Given the description of an element on the screen output the (x, y) to click on. 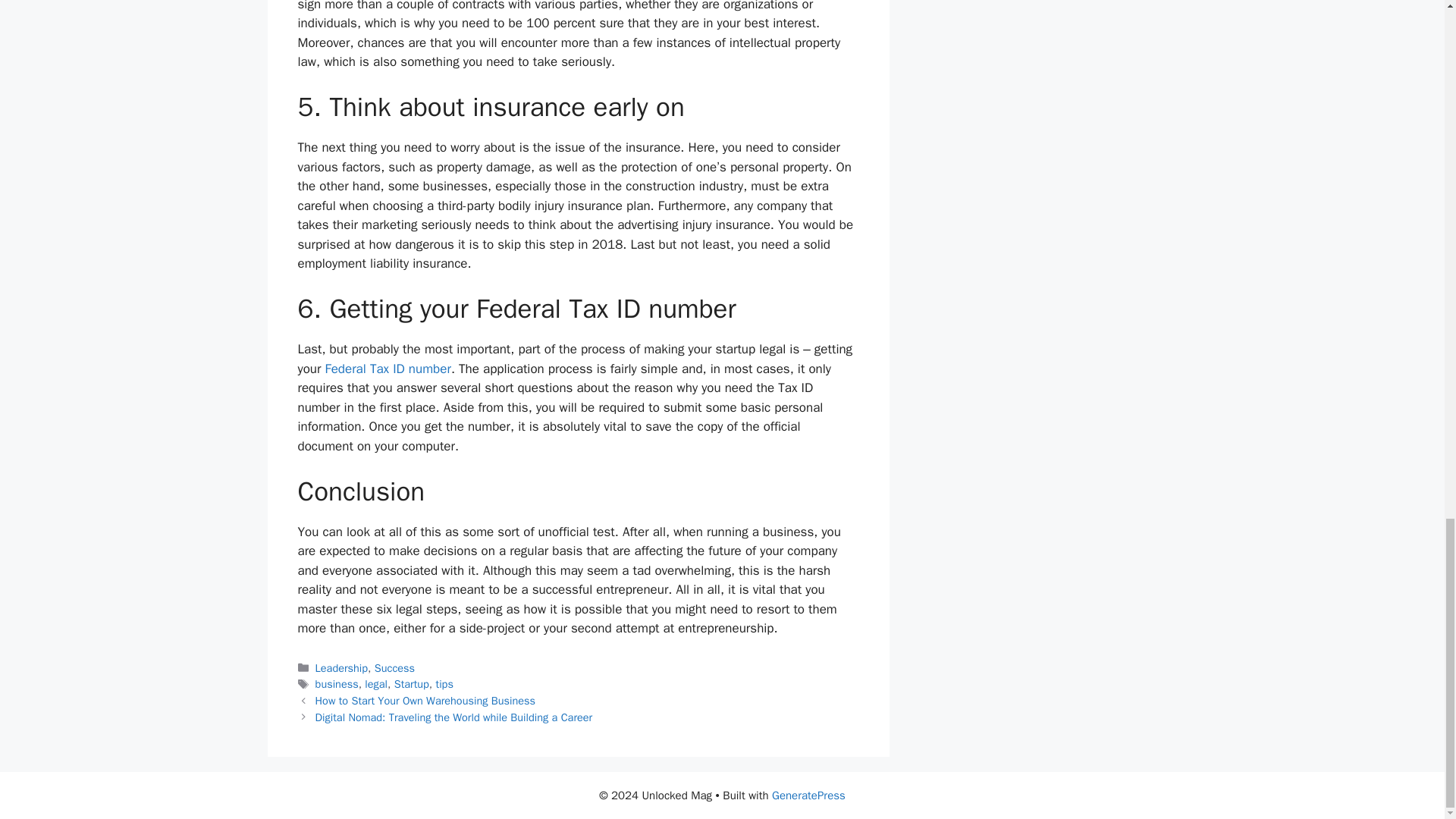
tips (443, 684)
Leadership (341, 667)
Digital Nomad: Traveling the World while Building a Career (453, 716)
Success (394, 667)
legal (376, 684)
Startup (411, 684)
GeneratePress (808, 794)
business (336, 684)
How to Start Your Own Warehousing Business (425, 700)
Federal Tax ID number (386, 368)
